Given the description of an element on the screen output the (x, y) to click on. 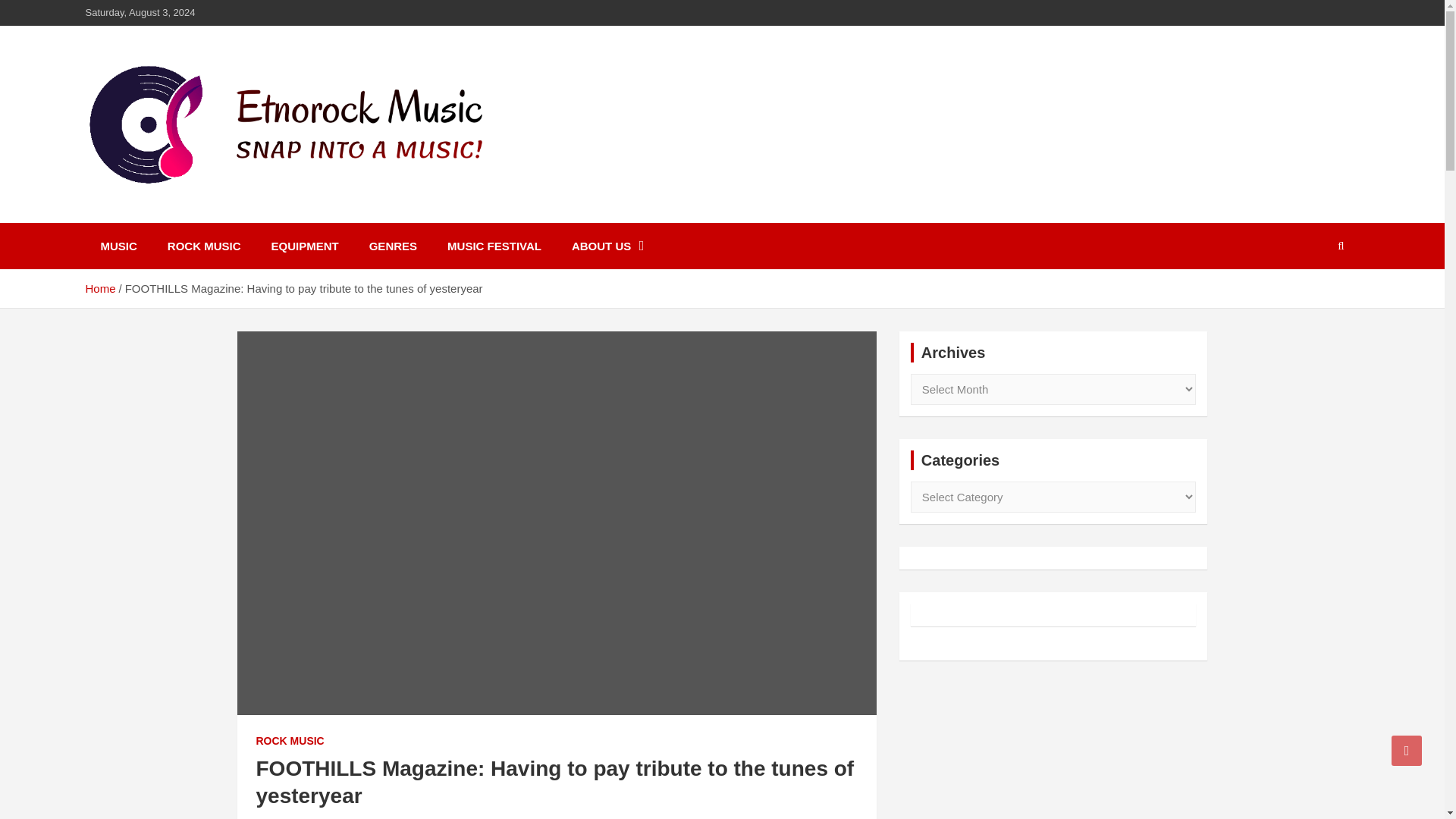
Etnorock Music (197, 212)
MUSIC FESTIVAL (494, 245)
Home (99, 287)
MUSIC (117, 245)
GENRES (392, 245)
ABOUT US (607, 245)
ROCK MUSIC (204, 245)
ROCK MUSIC (290, 741)
EQUIPMENT (304, 245)
Go to Top (1406, 750)
